Given the description of an element on the screen output the (x, y) to click on. 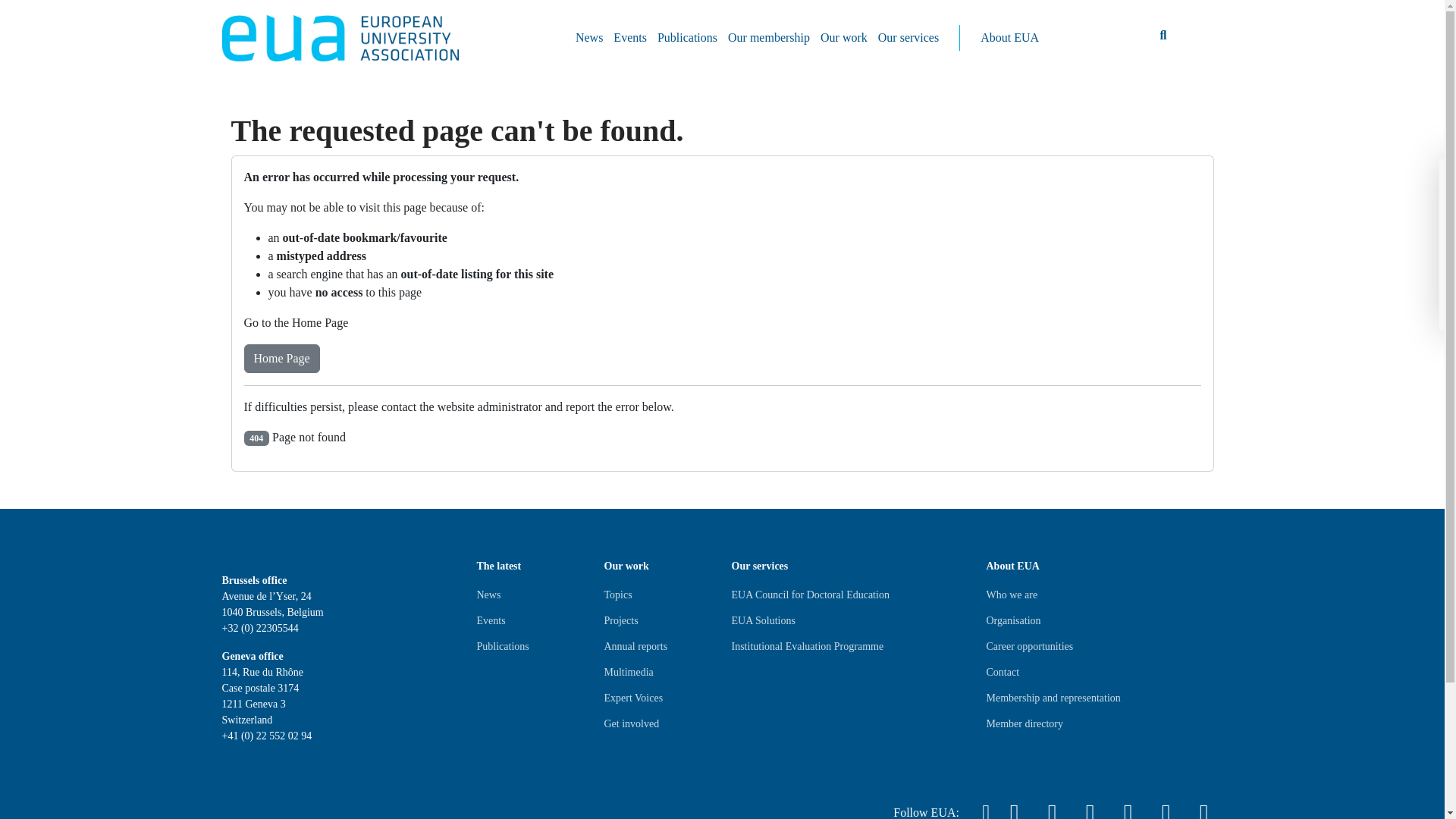
Events (490, 620)
EUA Youtube (1127, 806)
Our services (907, 37)
EUA Solutions (762, 620)
EUA Twitter (1013, 806)
Publications (502, 646)
Multimedia (628, 672)
Get involved (631, 723)
EUA Linkedin (1051, 806)
Topics (617, 595)
Expert Voices (633, 698)
News (488, 595)
Annual reports (635, 646)
Our work (843, 37)
About EUA (1009, 37)
